Given the description of an element on the screen output the (x, y) to click on. 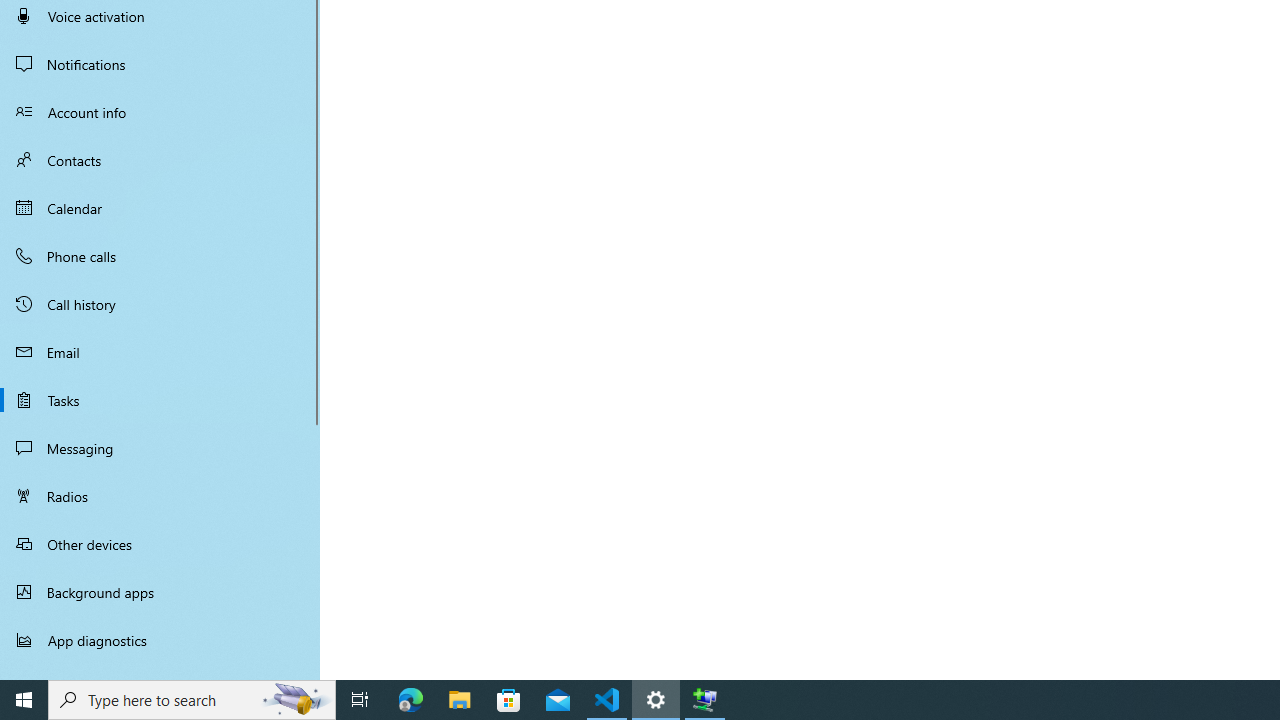
Call history (160, 304)
Messaging (160, 448)
Background apps (160, 592)
Contacts (160, 160)
Tasks (160, 399)
Notifications (160, 63)
Extensible Wizards Host Process - 1 running window (704, 699)
Email (160, 351)
Phone calls (160, 255)
